Given the description of an element on the screen output the (x, y) to click on. 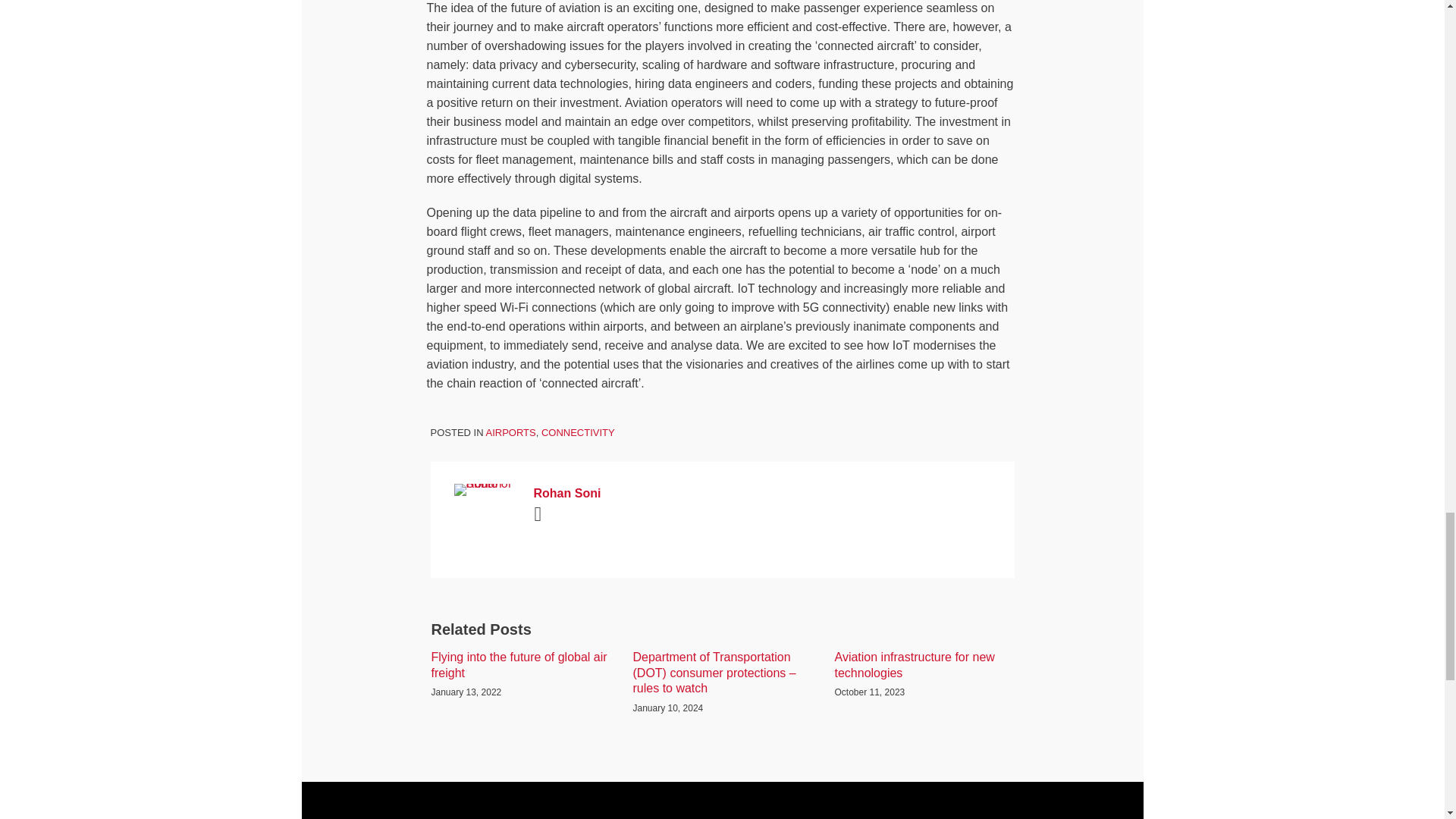
AIRPORTS (509, 432)
Flying into the future of global air freight (520, 665)
Aviation infrastructure for new technologies (923, 665)
Rohan Soni (721, 493)
CONNECTIVITY (577, 432)
